Given the description of an element on the screen output the (x, y) to click on. 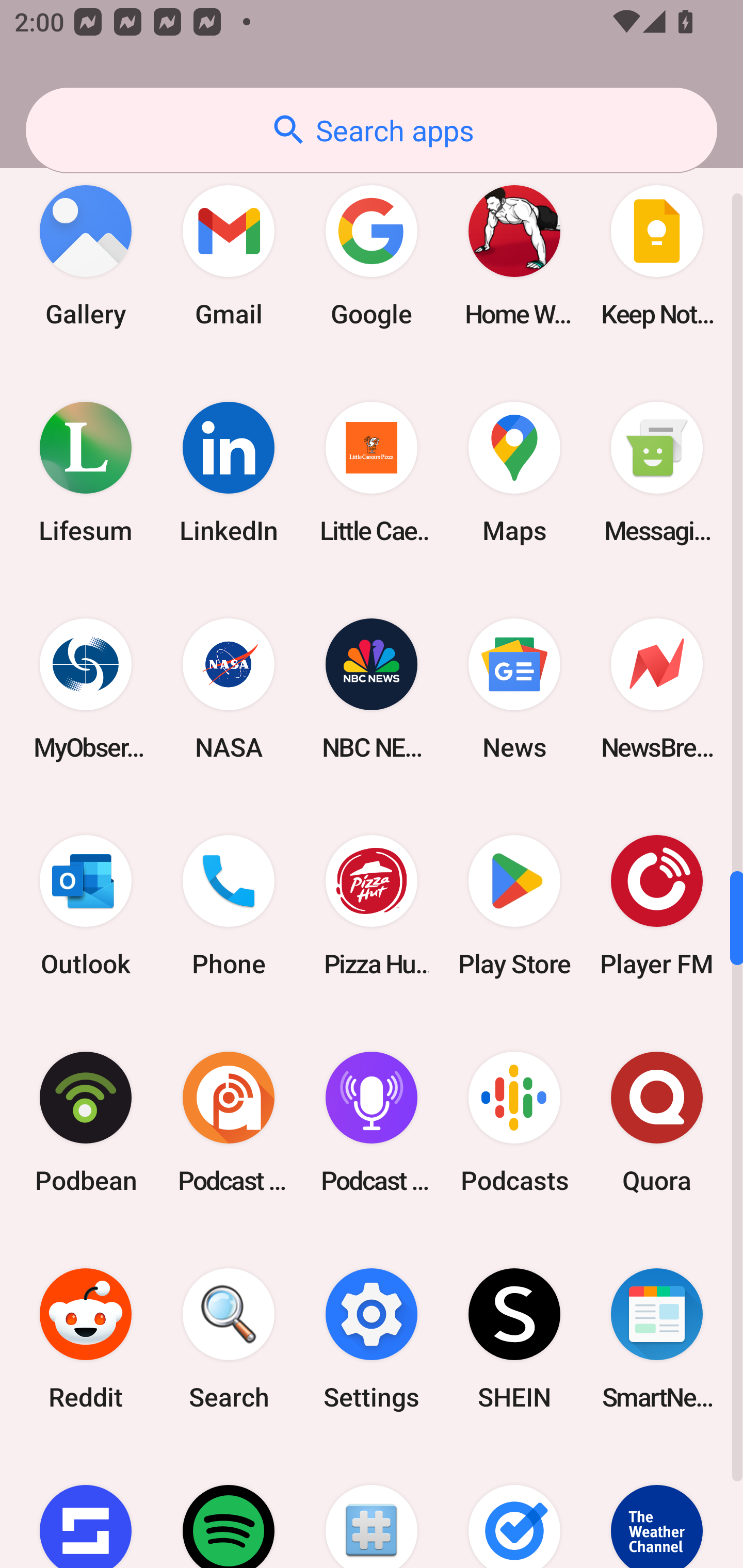
  Search apps (371, 130)
Gallery (85, 255)
Gmail (228, 255)
Google (371, 255)
Home Workout (514, 255)
Keep Notes (656, 255)
Lifesum (85, 471)
LinkedIn (228, 471)
Little Caesars Pizza (371, 471)
Maps (514, 471)
Messaging (656, 471)
MyObservatory (85, 689)
NASA (228, 689)
NBC NEWS (371, 689)
News (514, 689)
NewsBreak (656, 689)
Outlook (85, 906)
Phone (228, 906)
Pizza Hut HK & Macau (371, 906)
Play Store (514, 906)
Player FM (656, 906)
Podbean (85, 1122)
Podcast Addict (228, 1122)
Podcast Player (371, 1122)
Podcasts (514, 1122)
Quora (656, 1122)
Reddit (85, 1338)
Search (228, 1338)
Settings (371, 1338)
SHEIN (514, 1338)
SmartNews (656, 1338)
Sofascore (85, 1507)
Spotify (228, 1507)
Superuser (371, 1507)
Tasks (514, 1507)
The Weather Channel (656, 1507)
